Given the description of an element on the screen output the (x, y) to click on. 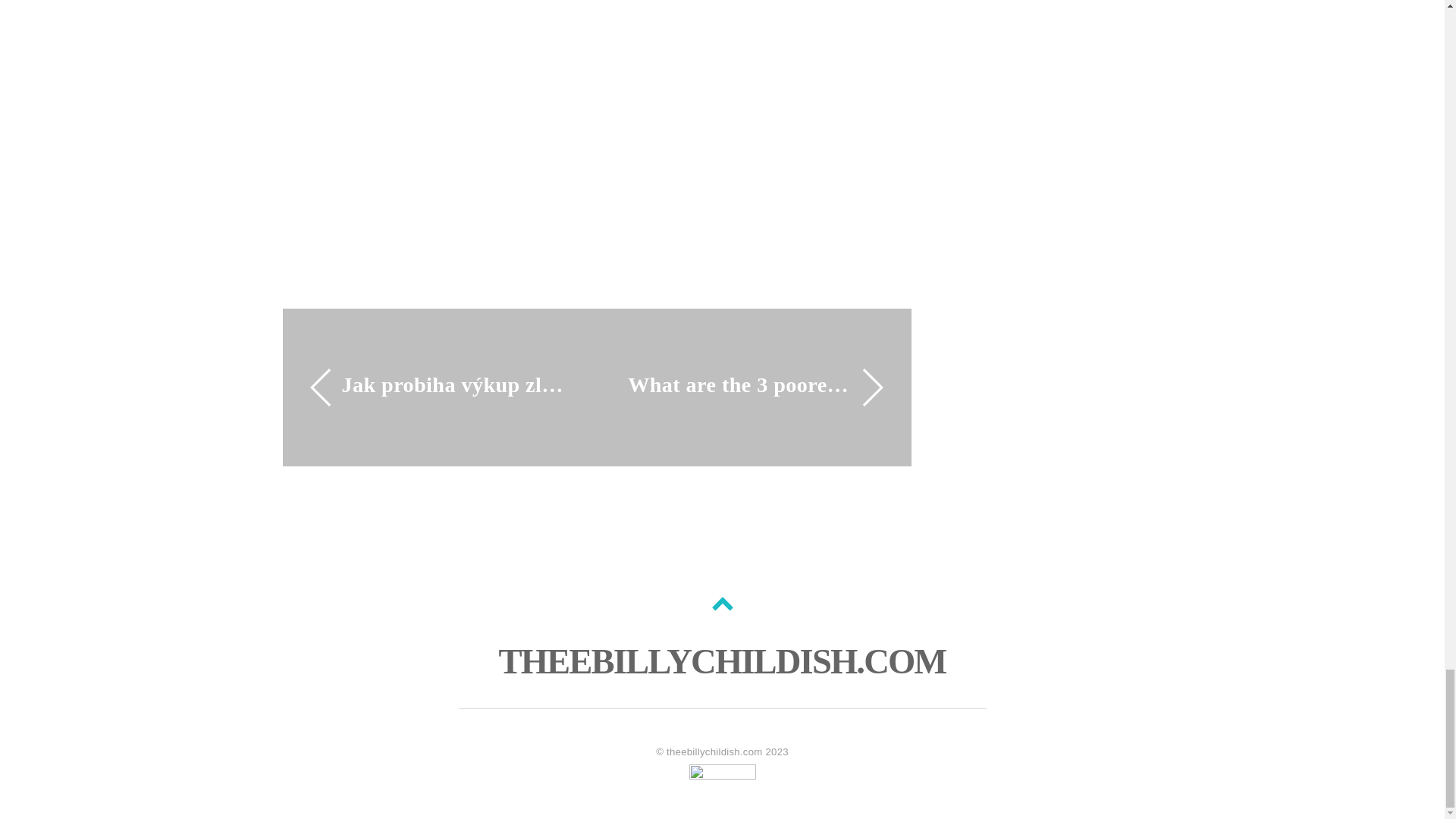
What are the 3 poorest countries in Europe? (739, 385)
theebillychildish.com (714, 751)
theebillychildish.com (720, 660)
THEEBILLYCHILDISH.COM (720, 660)
